Given the description of an element on the screen output the (x, y) to click on. 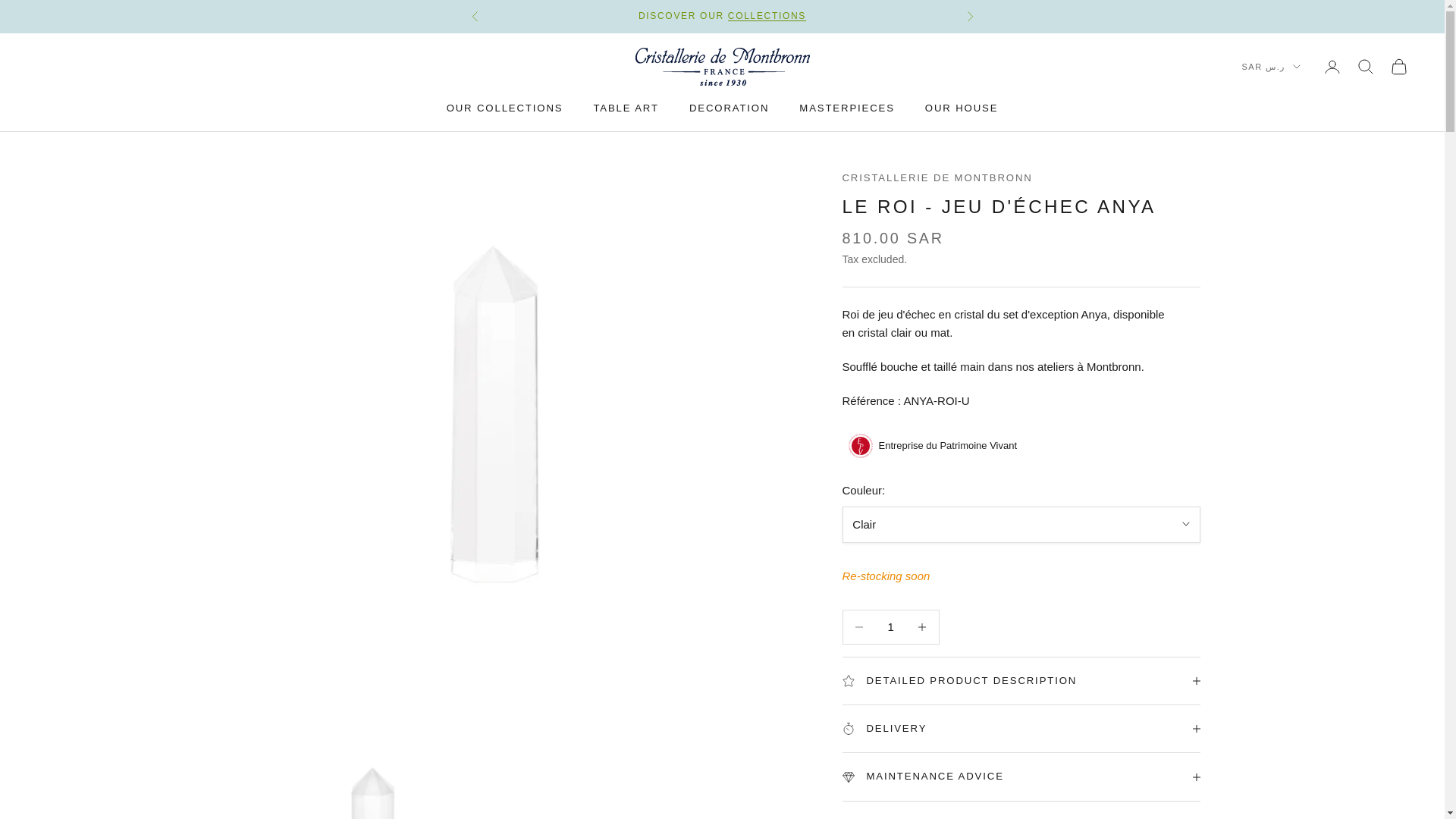
OUR COLLECTIONS (504, 108)
COLLECTIONS (767, 15)
1 (890, 626)
Next (968, 16)
collections (767, 15)
Previous (474, 16)
Cristallerie de Montbronn (721, 66)
